Given the description of an element on the screen output the (x, y) to click on. 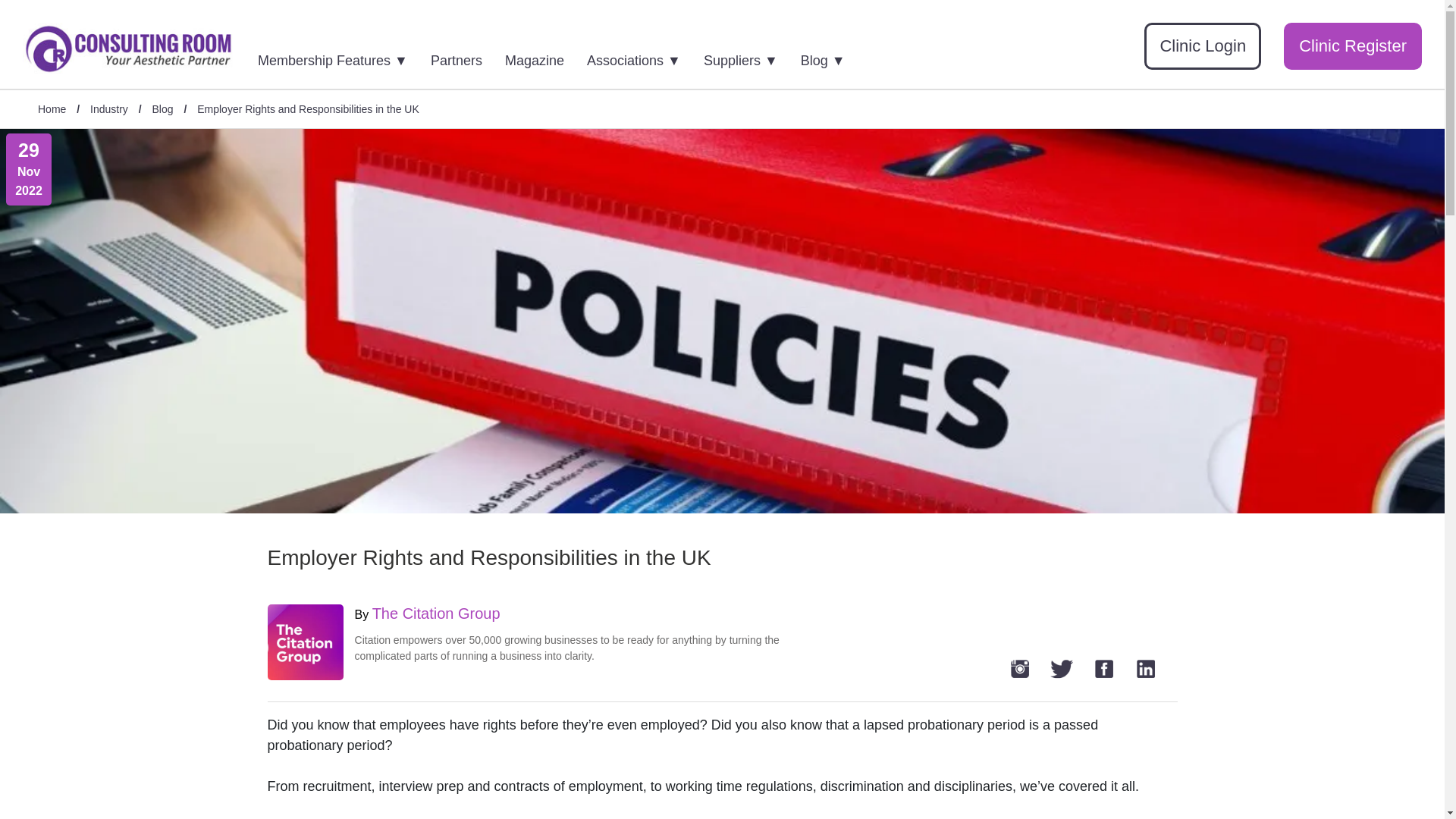
Magazine (544, 56)
Partners (465, 56)
Consulting Room Home (128, 50)
Partners (465, 56)
Consulting Room Logo (128, 48)
